Given the description of an element on the screen output the (x, y) to click on. 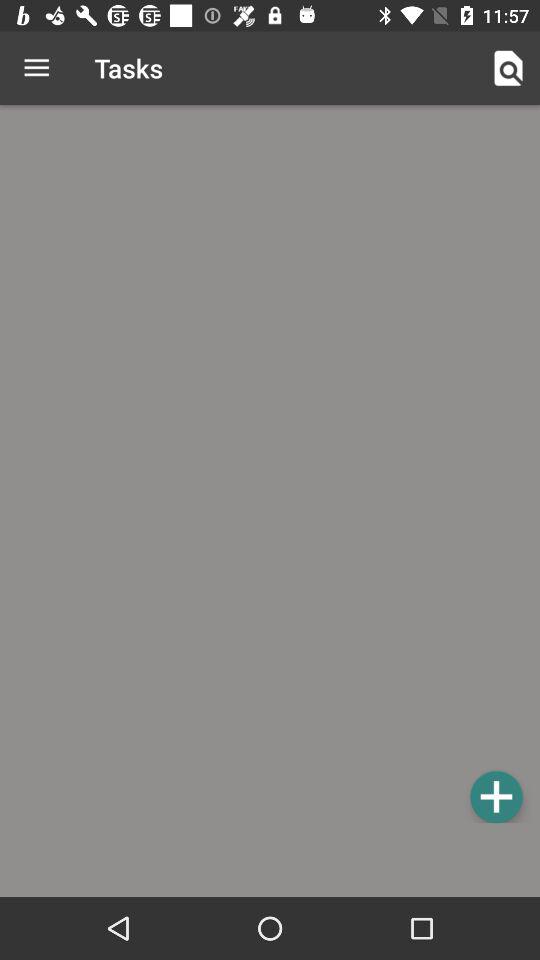
turn off the icon to the right of the tasks item (508, 67)
